Given the description of an element on the screen output the (x, y) to click on. 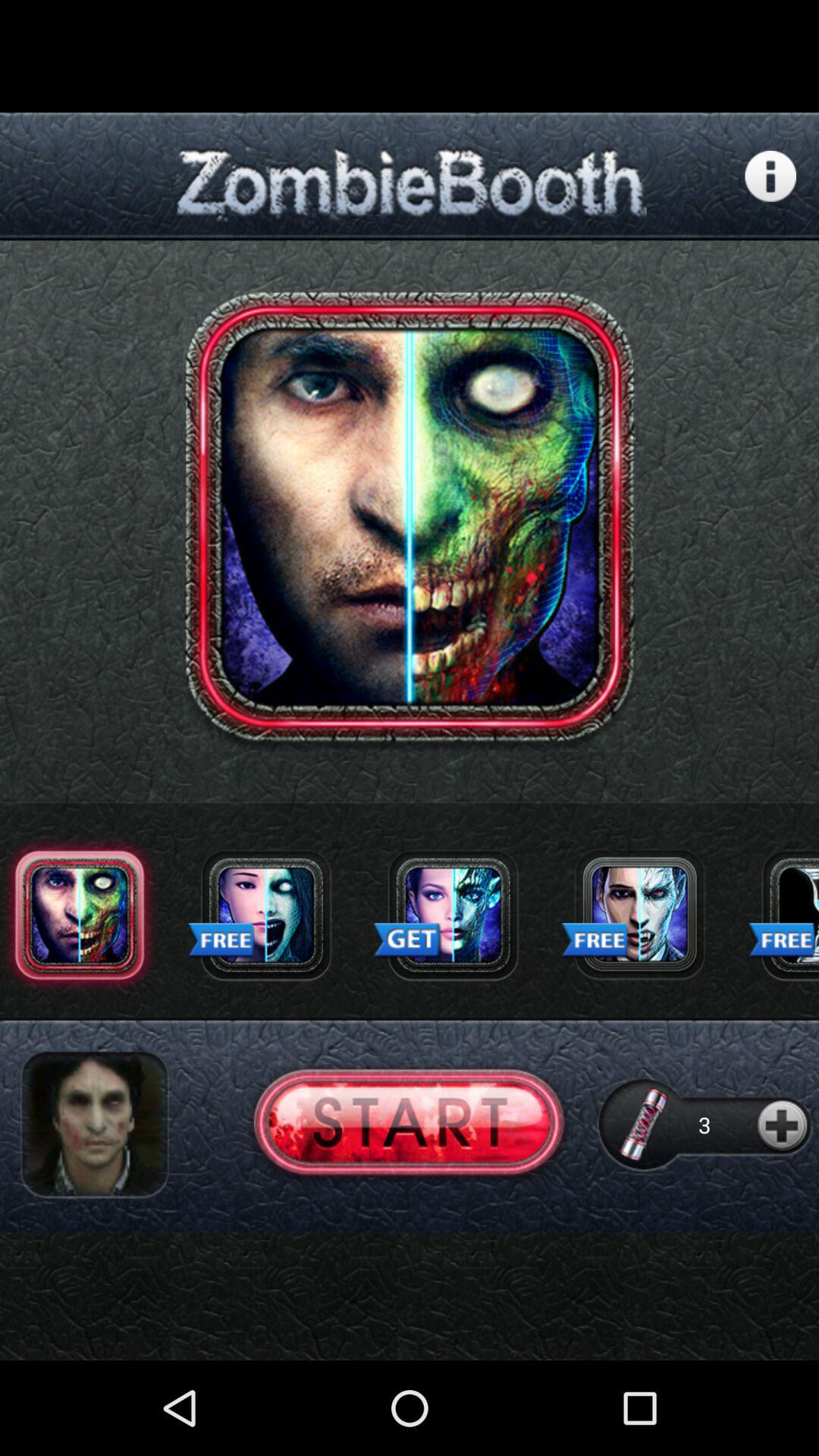
select zombie face (265, 914)
